Given the description of an element on the screen output the (x, y) to click on. 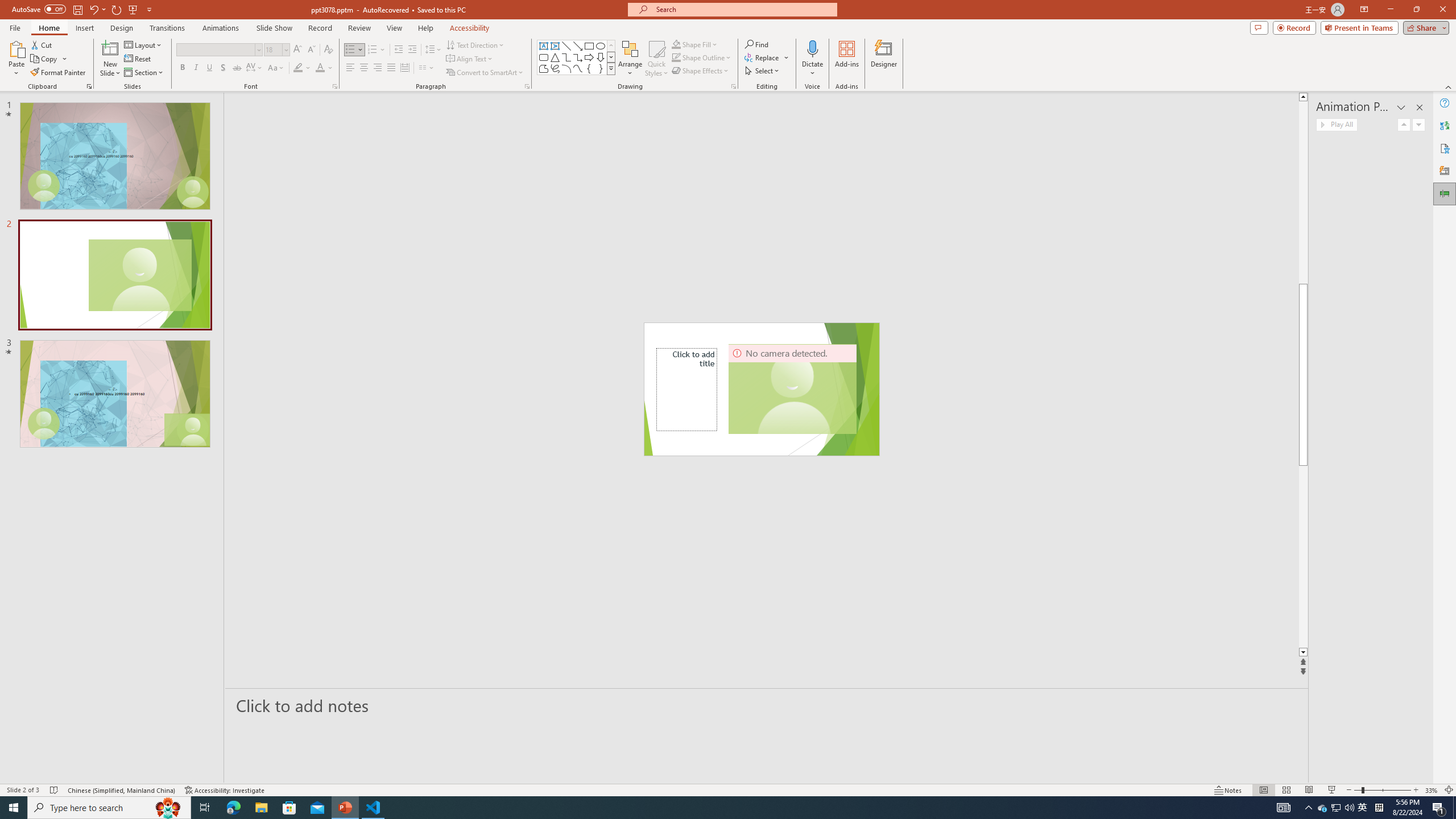
Share (1423, 27)
Align Text (470, 58)
